Given the description of an element on the screen output the (x, y) to click on. 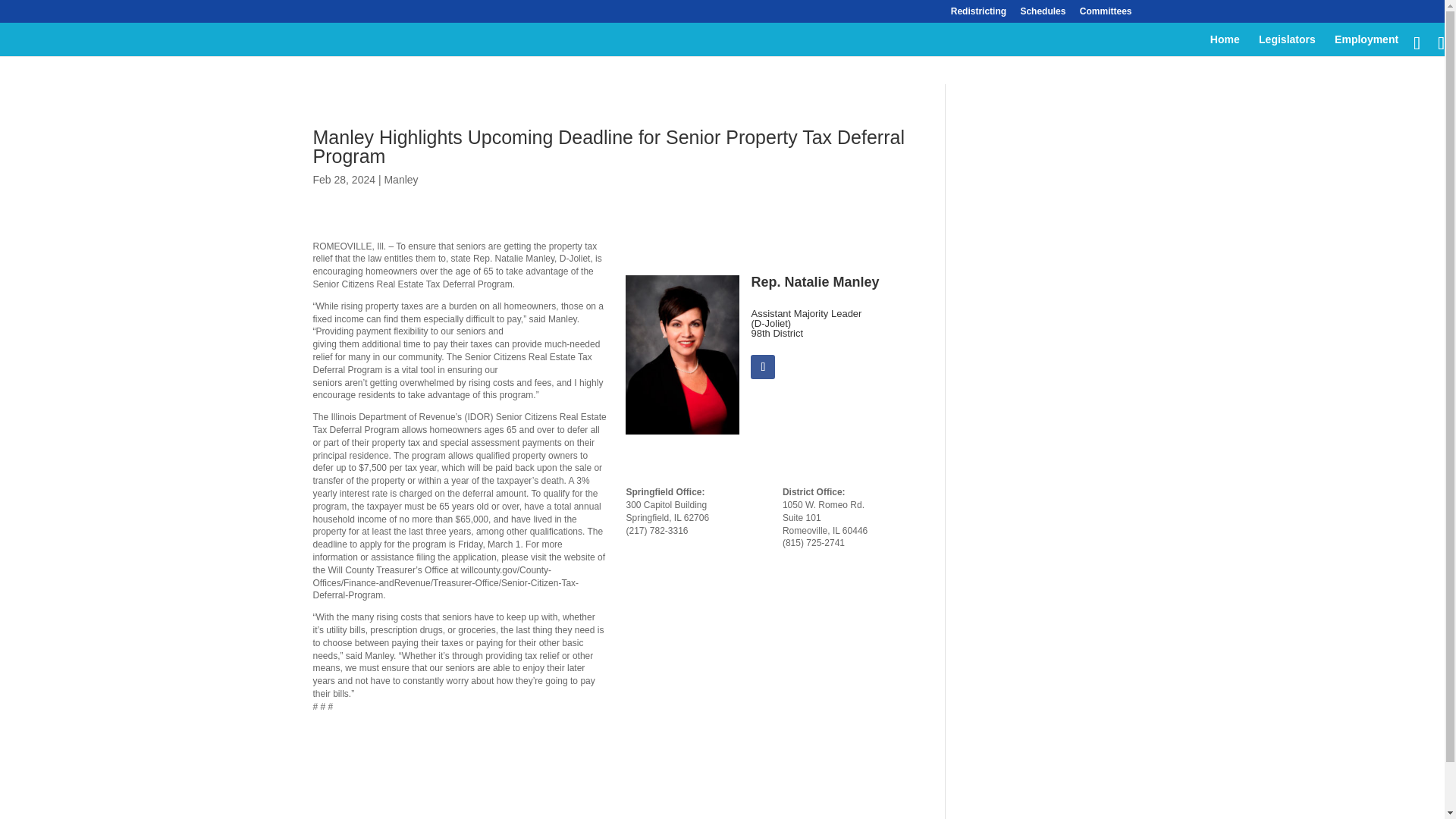
Home (1224, 45)
Schedules (1042, 14)
Legislators (1287, 45)
Committees (1106, 14)
Manley (400, 179)
Follow on Facebook (762, 366)
Redistricting (978, 14)
Employment (1366, 45)
